Given the description of an element on the screen output the (x, y) to click on. 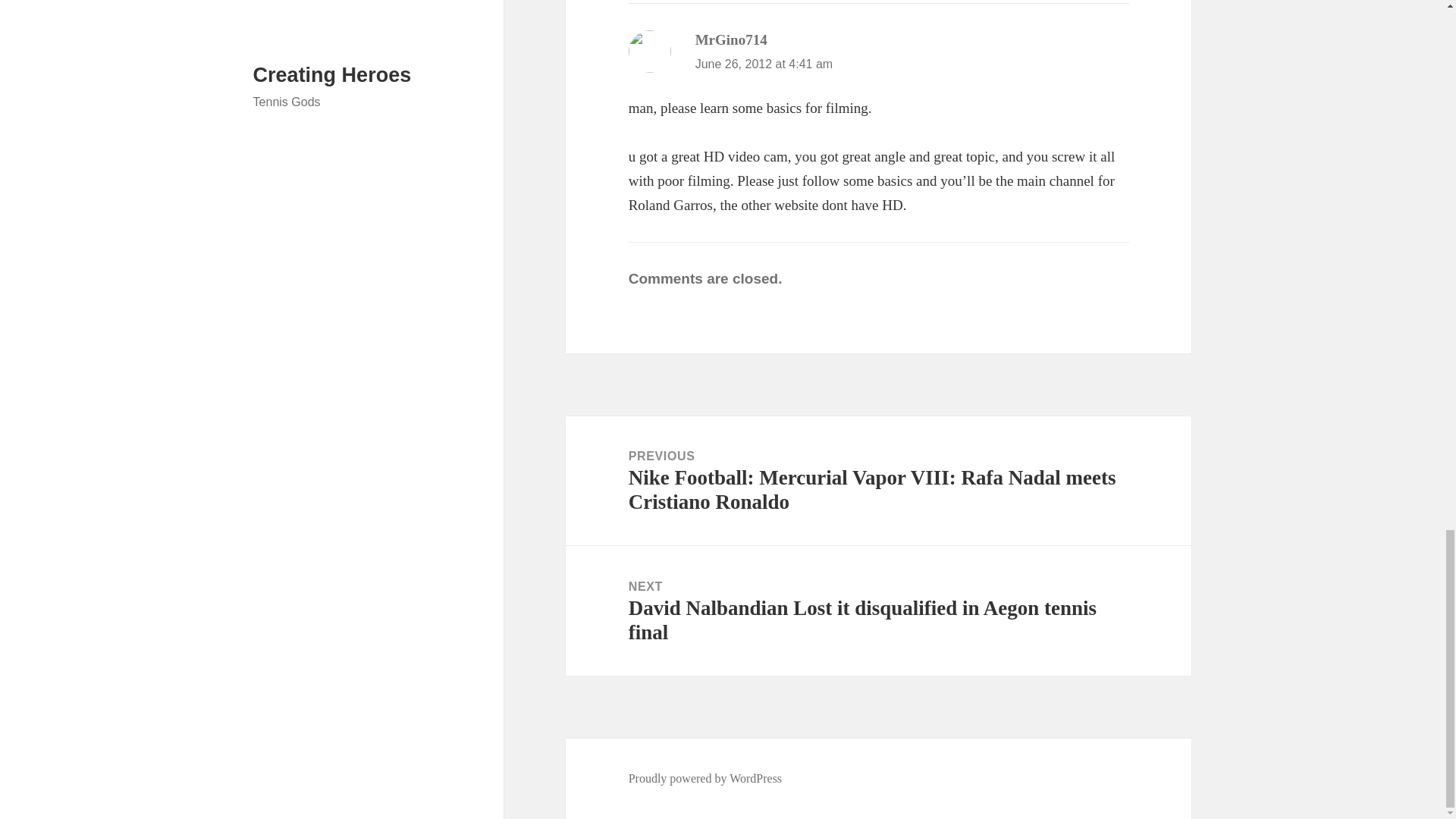
June 26, 2012 at 4:41 am (763, 63)
Proudly powered by WordPress (704, 778)
